Given the description of an element on the screen output the (x, y) to click on. 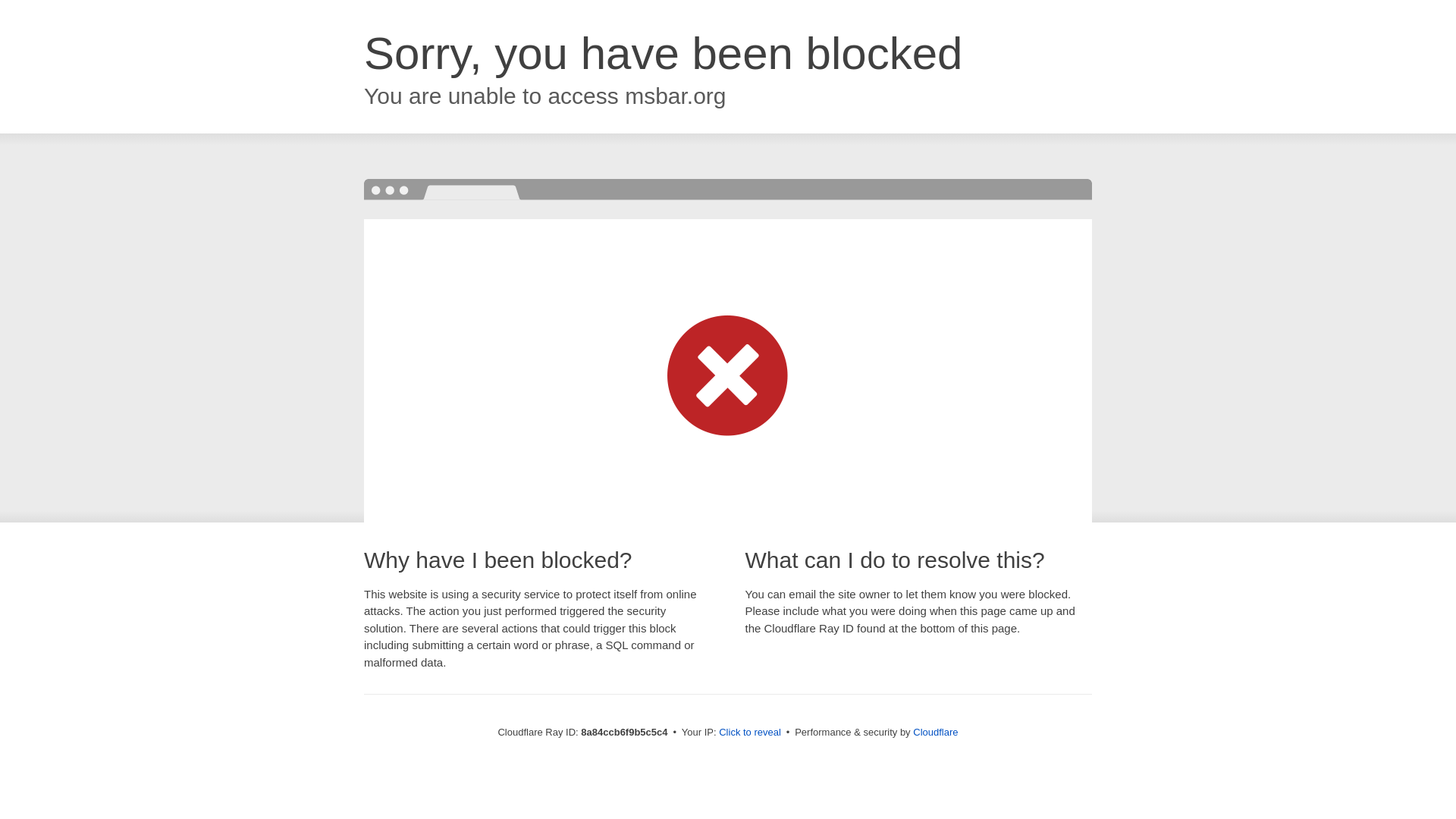
Click to reveal (749, 732)
Cloudflare (935, 731)
